Given the description of an element on the screen output the (x, y) to click on. 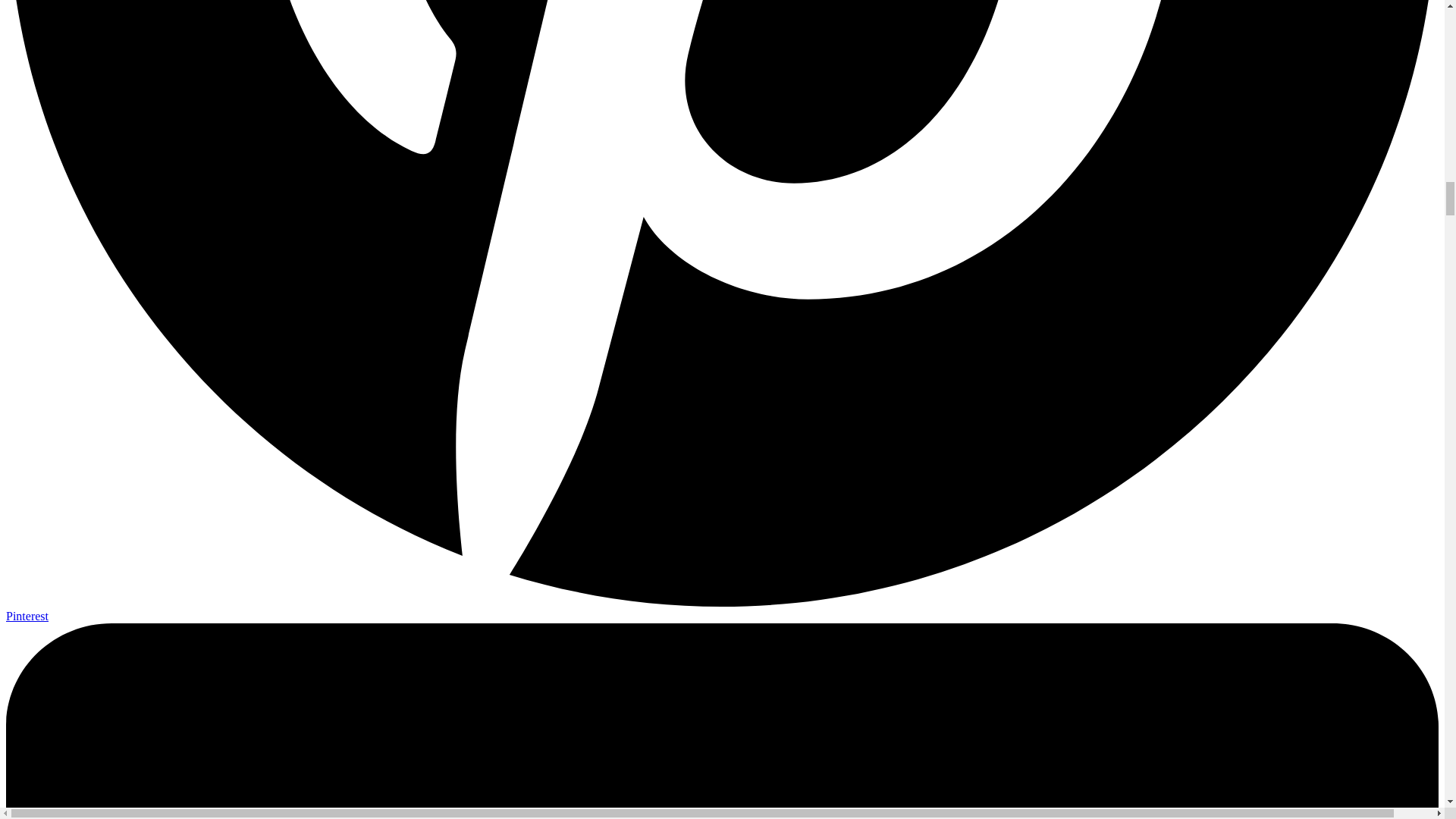
Pinterest icon Pinterest (721, 609)
